Given the description of an element on the screen output the (x, y) to click on. 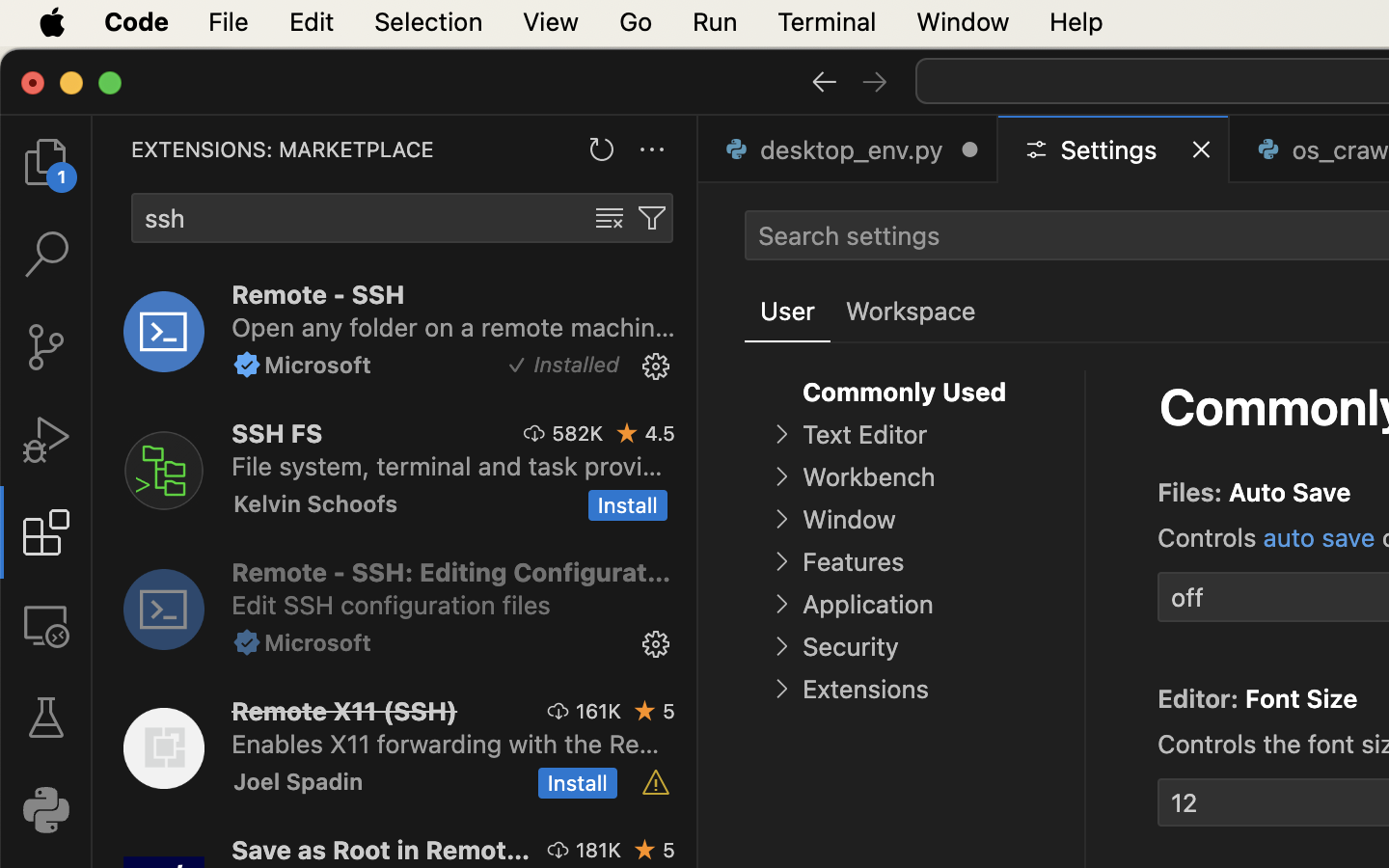
Files: Element type: AXStaticText (1192, 492)
Search settings Element type: AXStaticText (849, 235)
Window Element type: AXStaticText (849, 519)
 Element type: AXButton (609, 217)
 Element type: AXGroup (46, 717)
